Given the description of an element on the screen output the (x, y) to click on. 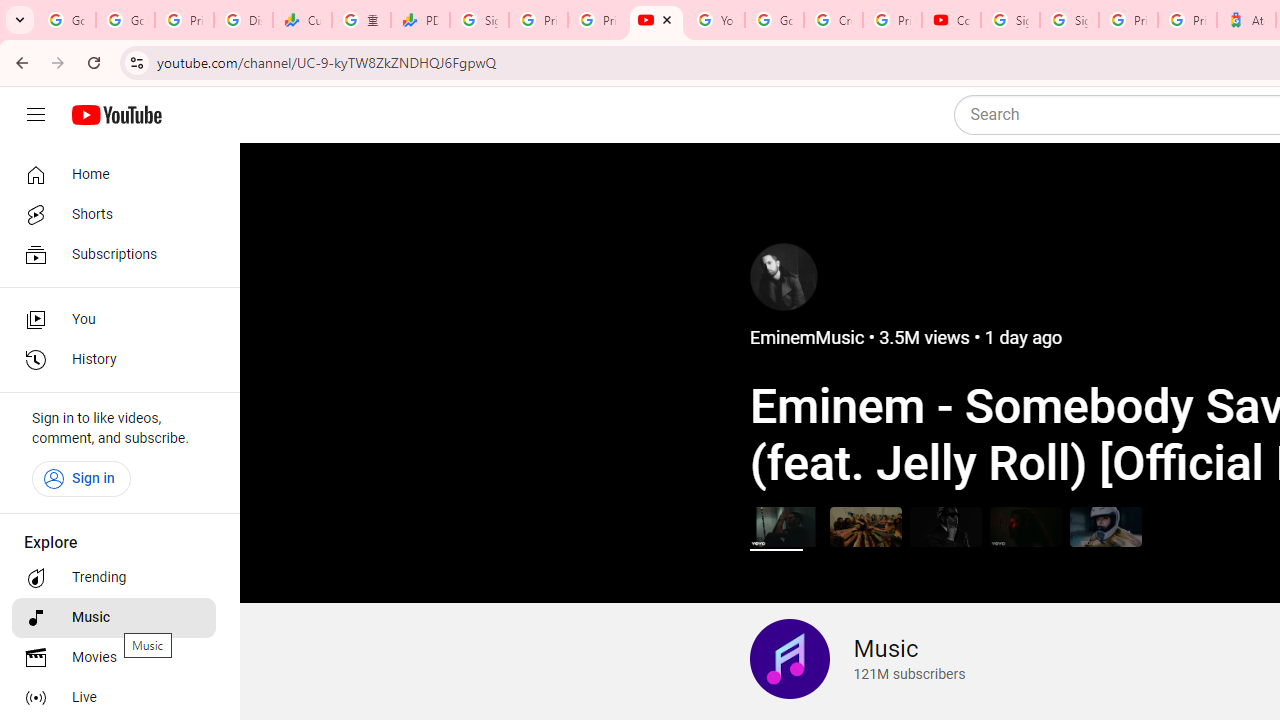
History (113, 359)
The Music Channel - YouTube (656, 20)
Music 121 million subscribers (857, 659)
Content Creator Programs & Opportunities - YouTube Creators (950, 20)
A$AP Rocky - HIGHJACK (Official Video) (944, 526)
Subscriptions (113, 254)
Trending (113, 578)
